Given the description of an element on the screen output the (x, y) to click on. 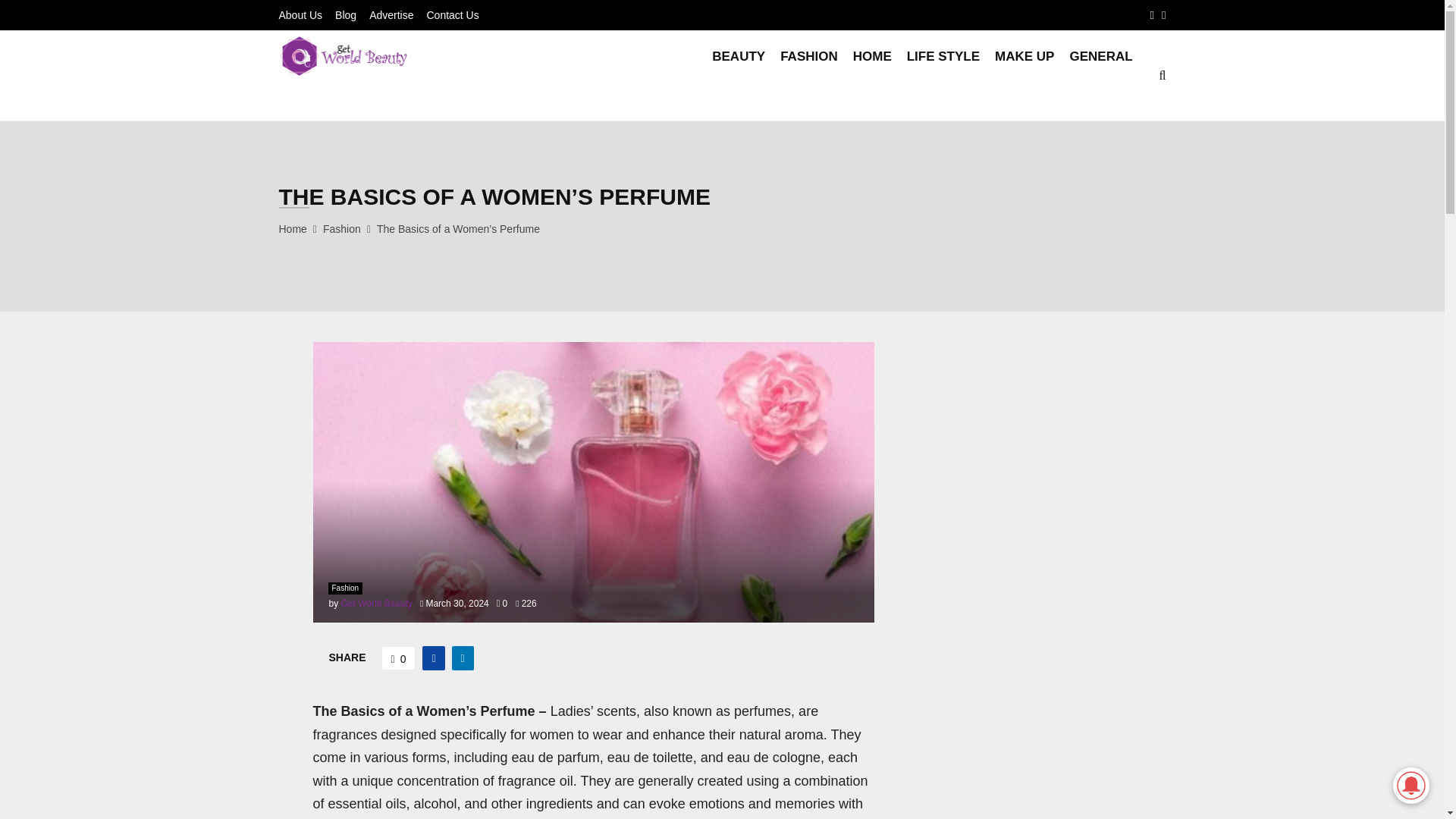
Facebook (1152, 15)
Fashion (342, 228)
Like (398, 658)
Contact Us (452, 15)
LIFE STYLE (943, 75)
Linkedin (1163, 15)
Home (293, 228)
About Us (301, 15)
FASHION (809, 75)
Blog (345, 15)
GENERAL (1100, 75)
0 (501, 603)
Advertise (391, 15)
0 (398, 658)
HOME (872, 75)
